Given the description of an element on the screen output the (x, y) to click on. 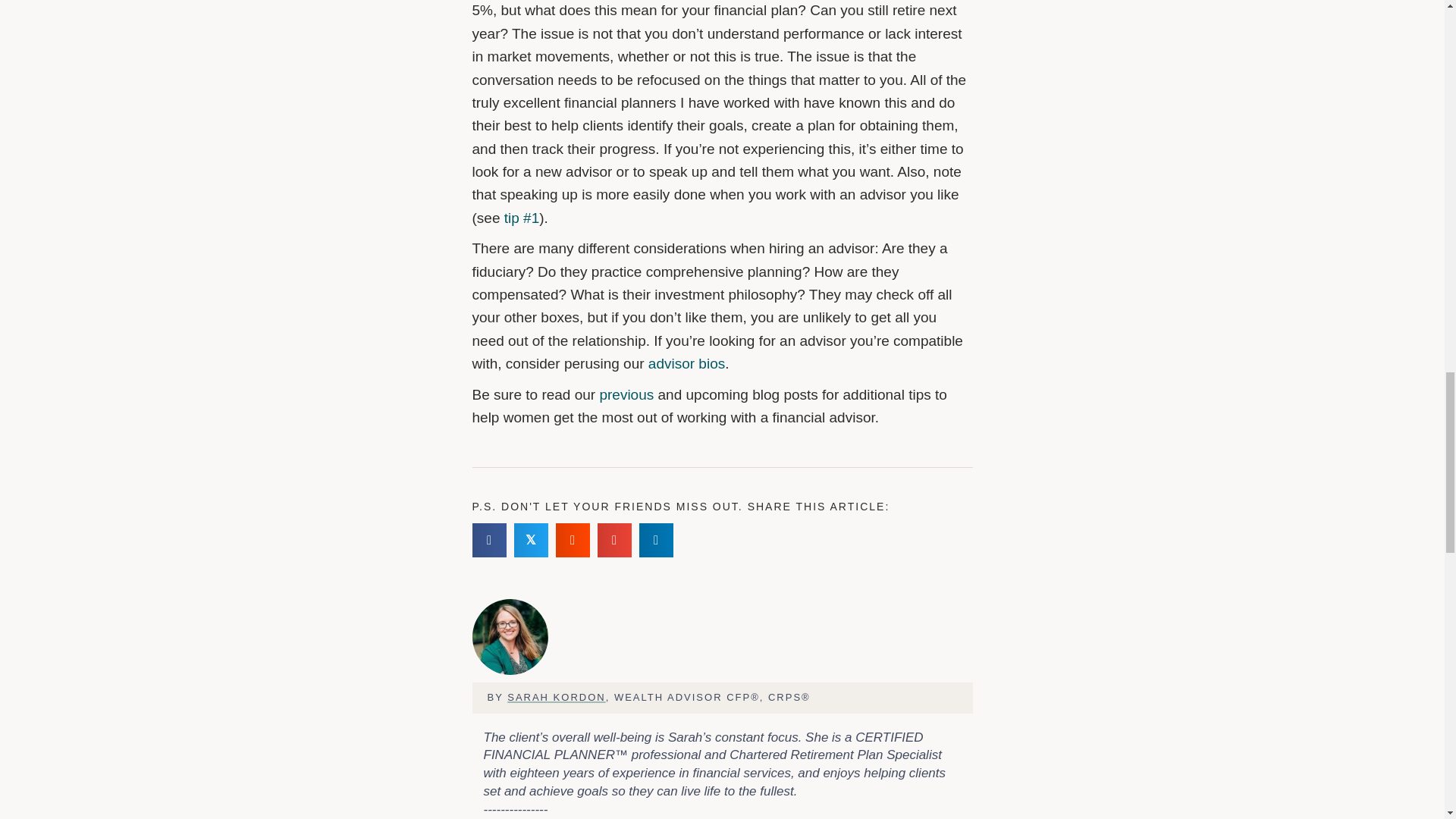
Sarah Kordon (509, 636)
